Given the description of an element on the screen output the (x, y) to click on. 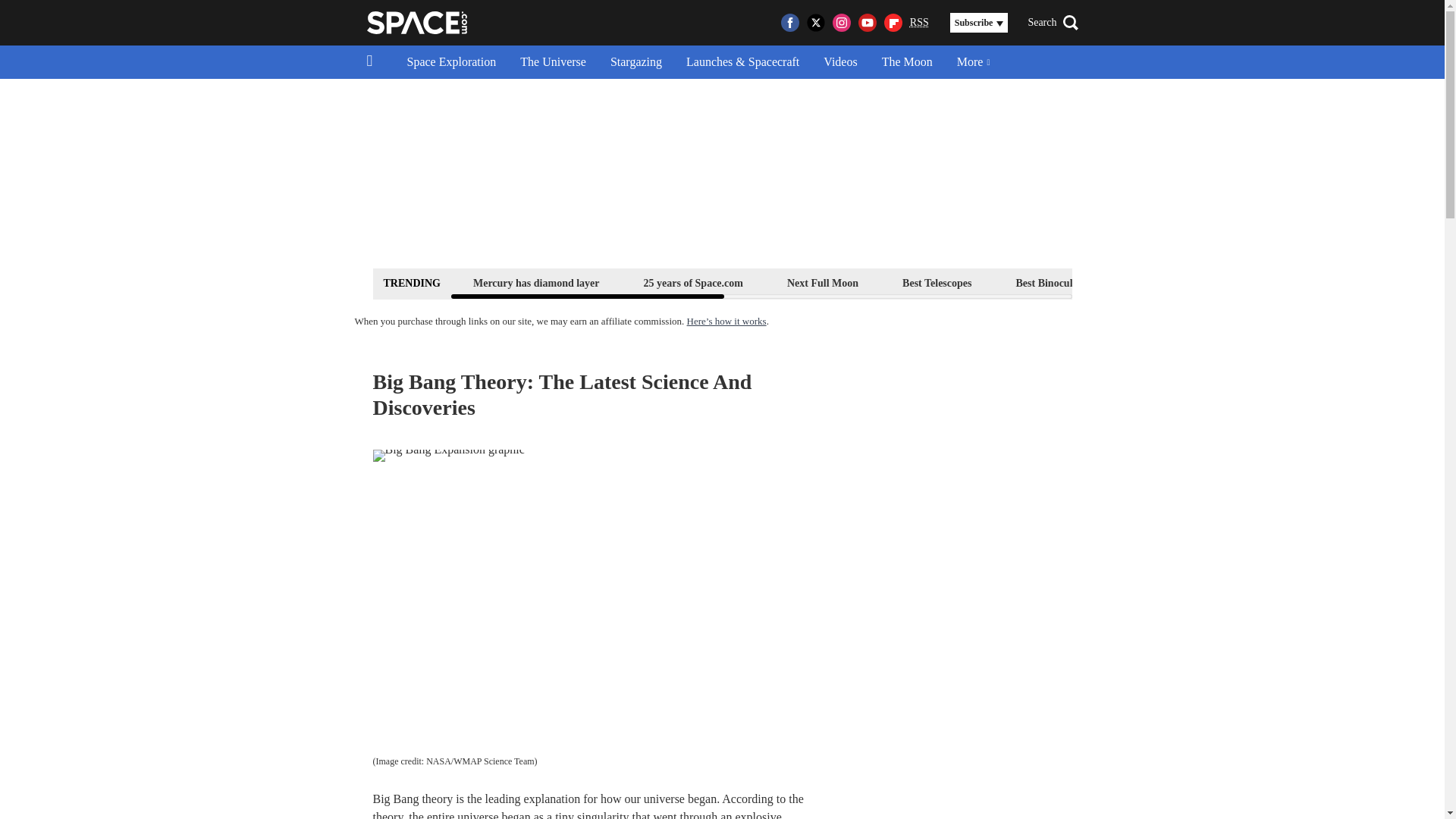
Best Binoculars (1051, 282)
The Moon (906, 61)
Mercury has diamond layer (536, 282)
Best Star Projectors (1176, 282)
Really Simple Syndication (919, 21)
Space Calendar (1301, 282)
Next Full Moon (822, 282)
Videos (839, 61)
Best Telescopes (936, 282)
Stargazing (636, 61)
